Given the description of an element on the screen output the (x, y) to click on. 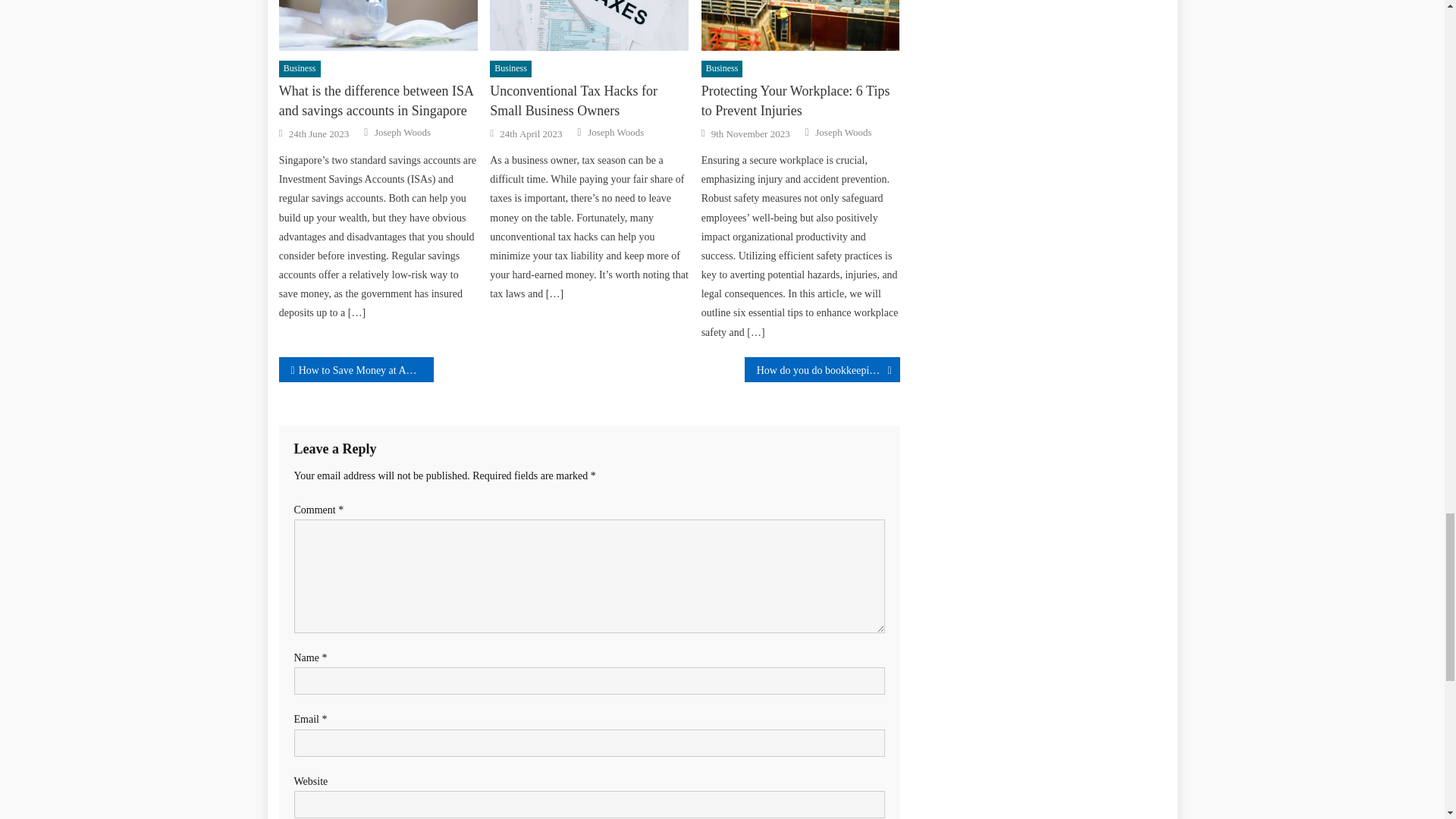
24th June 2023 (318, 133)
Unconventional Tax Hacks for Small Business Owners (588, 25)
Business (299, 68)
Joseph Woods (615, 132)
Protecting Your Workplace: 6 Tips to Prevent Injuries (800, 100)
9th November 2023 (750, 133)
Business (510, 68)
24th April 2023 (530, 133)
Joseph Woods (842, 132)
Joseph Woods (402, 132)
Unconventional Tax Hacks for Small Business Owners (588, 100)
How do you do bookkeeping for a restaurant? (821, 369)
Protecting Your Workplace: 6 Tips to Prevent Injuries (800, 25)
